Given the description of an element on the screen output the (x, y) to click on. 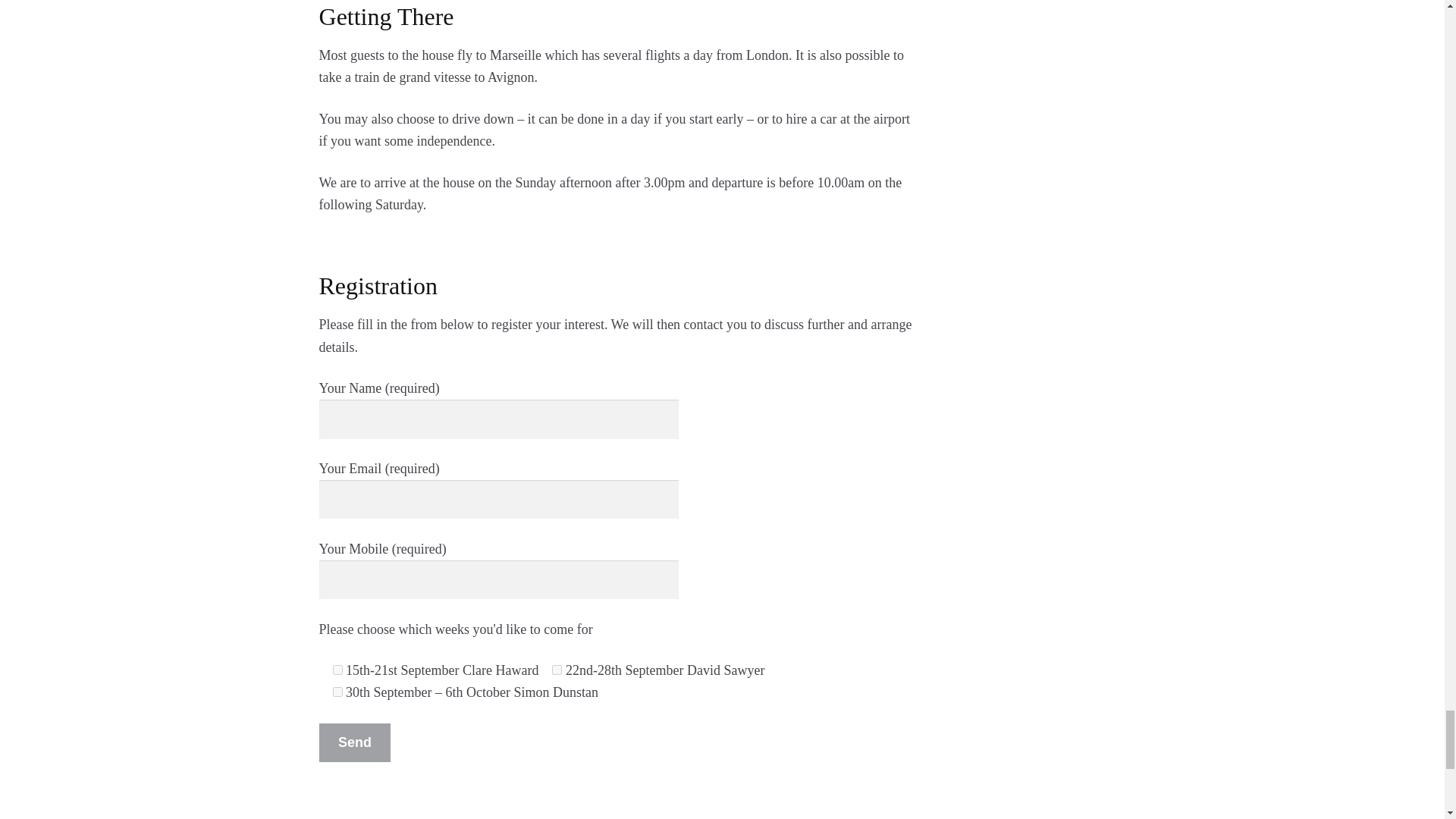
22nd-28th September David Sawyer (556, 669)
Send (354, 742)
15th-21st September Clare Haward (337, 669)
